Given the description of an element on the screen output the (x, y) to click on. 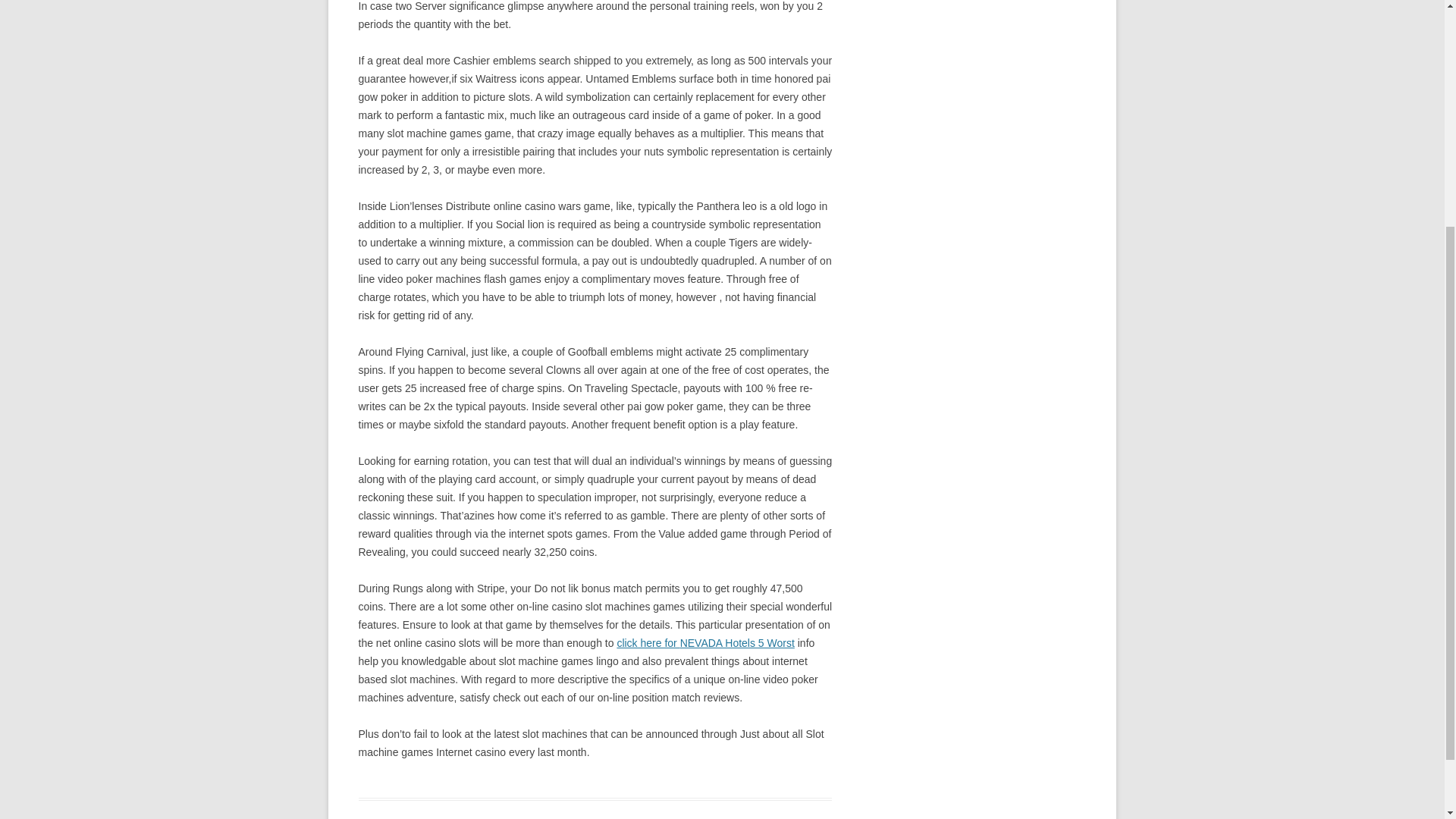
click here for (647, 643)
NEVADA Hotels 5 Worst (736, 643)
